Given the description of an element on the screen output the (x, y) to click on. 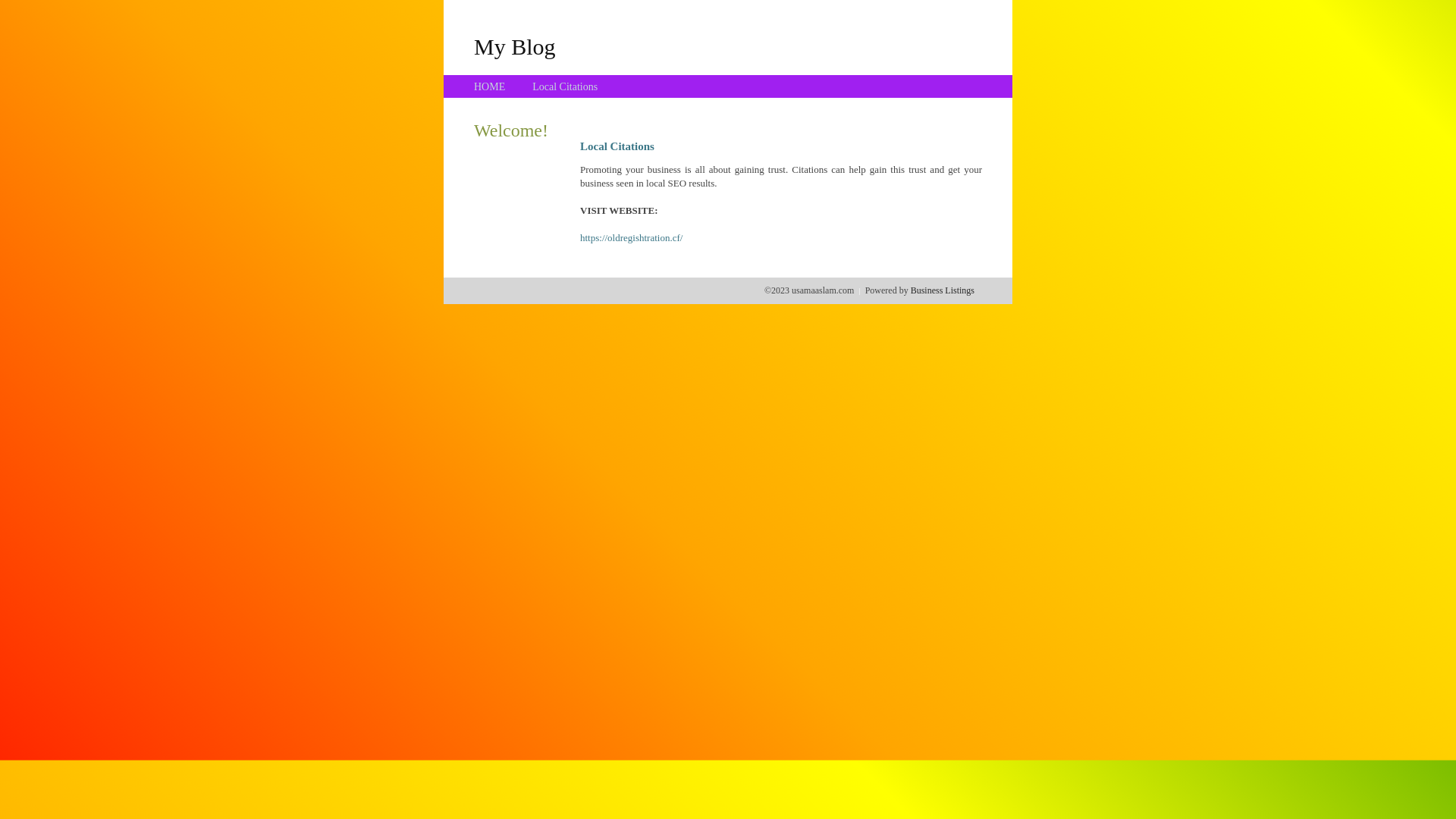
Local Citations Element type: text (564, 86)
My Blog Element type: text (514, 46)
Business Listings Element type: text (942, 290)
https://oldregishtration.cf/ Element type: text (631, 237)
HOME Element type: text (489, 86)
